Given the description of an element on the screen output the (x, y) to click on. 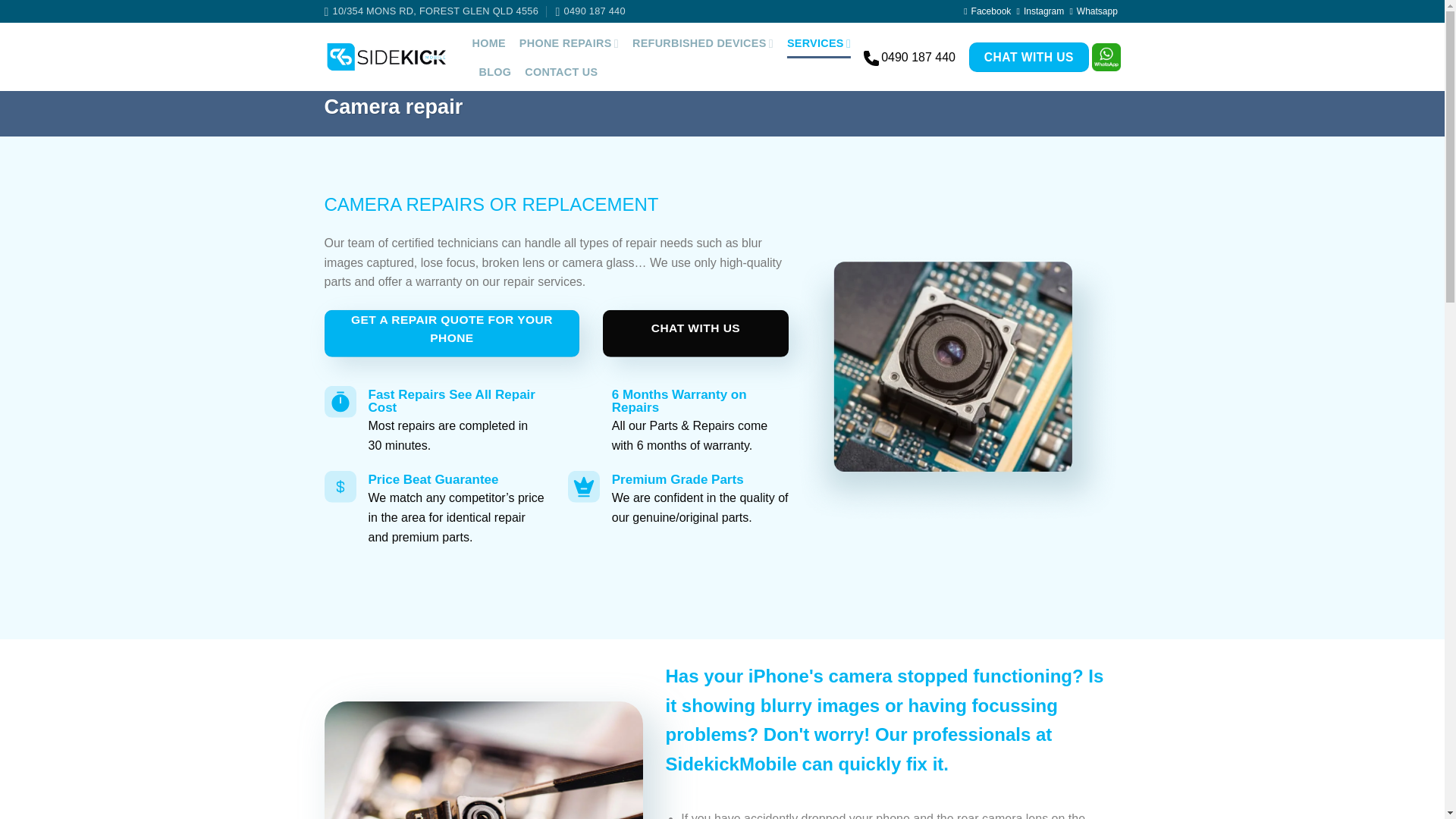
sidekickmobile (431, 11)
0490 187 440 (589, 11)
REFURBISHED DEVICES (702, 43)
BLOG (495, 71)
0490 187 440 (589, 11)
CHAT WITH US (1029, 57)
0490 187 440 (917, 56)
Follow on Whatsapp (1092, 10)
HOME (488, 42)
